Given the description of an element on the screen output the (x, y) to click on. 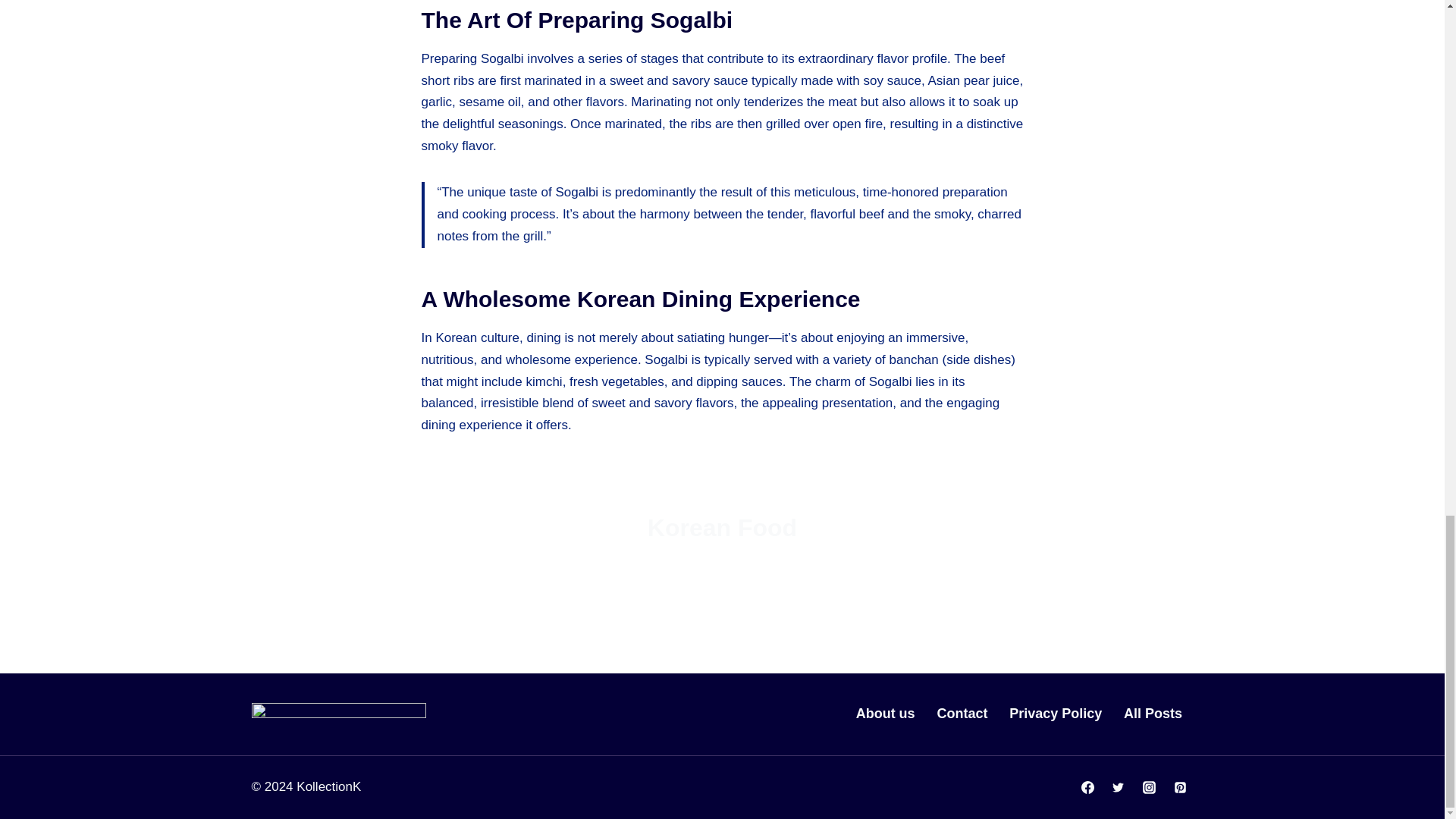
Contact (962, 714)
About us (885, 714)
All Posts (1153, 714)
Privacy Policy (1055, 714)
